Given the description of an element on the screen output the (x, y) to click on. 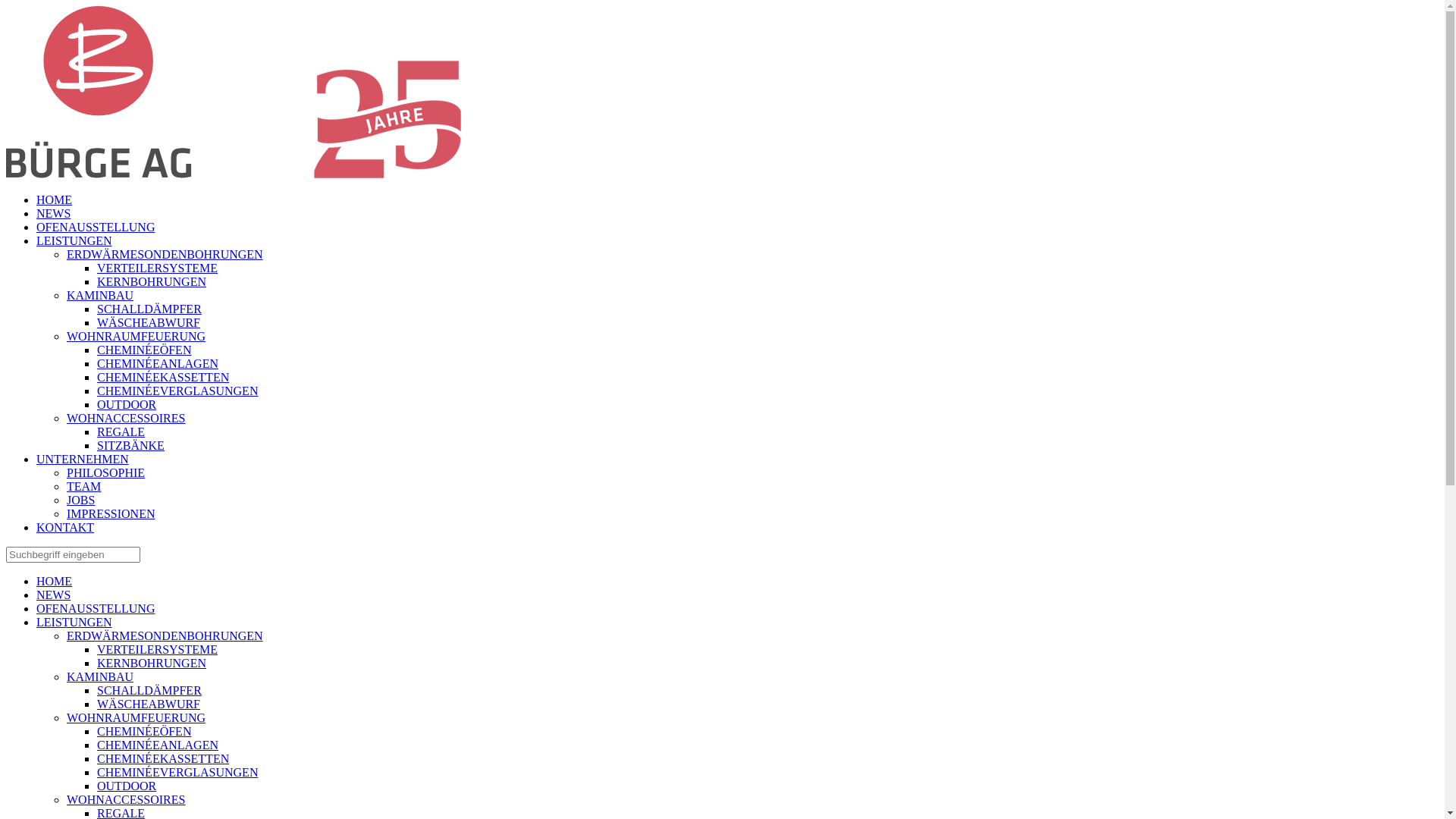
KAMINBAU Element type: text (99, 676)
OUTDOOR Element type: text (126, 785)
HOME Element type: text (54, 580)
OUTDOOR Element type: text (126, 404)
OFENAUSSTELLUNG Element type: text (95, 226)
NEWS Element type: text (53, 213)
JOBS Element type: text (80, 499)
IMPRESSIONEN Element type: text (110, 513)
WOHNRAUMFEUERUNG Element type: text (135, 335)
PHILOSOPHIE Element type: text (105, 472)
HOME Element type: text (54, 199)
WOHNRAUMFEUERUNG Element type: text (135, 717)
KONTAKT Element type: text (65, 526)
REGALE Element type: text (120, 431)
TEAM Element type: text (83, 486)
LEISTUNGEN Element type: text (74, 240)
OFENAUSSTELLUNG Element type: text (95, 608)
LEISTUNGEN Element type: text (74, 621)
NEWS Element type: text (53, 594)
VERTEILERSYSTEME Element type: text (157, 649)
UNTERNEHMEN Element type: text (82, 458)
KERNBOHRUNGEN Element type: text (151, 662)
WOHNACCESSOIRES Element type: text (125, 417)
KERNBOHRUNGEN Element type: text (151, 281)
VERTEILERSYSTEME Element type: text (157, 267)
WOHNACCESSOIRES Element type: text (125, 799)
KAMINBAU Element type: text (99, 294)
